Given the description of an element on the screen output the (x, y) to click on. 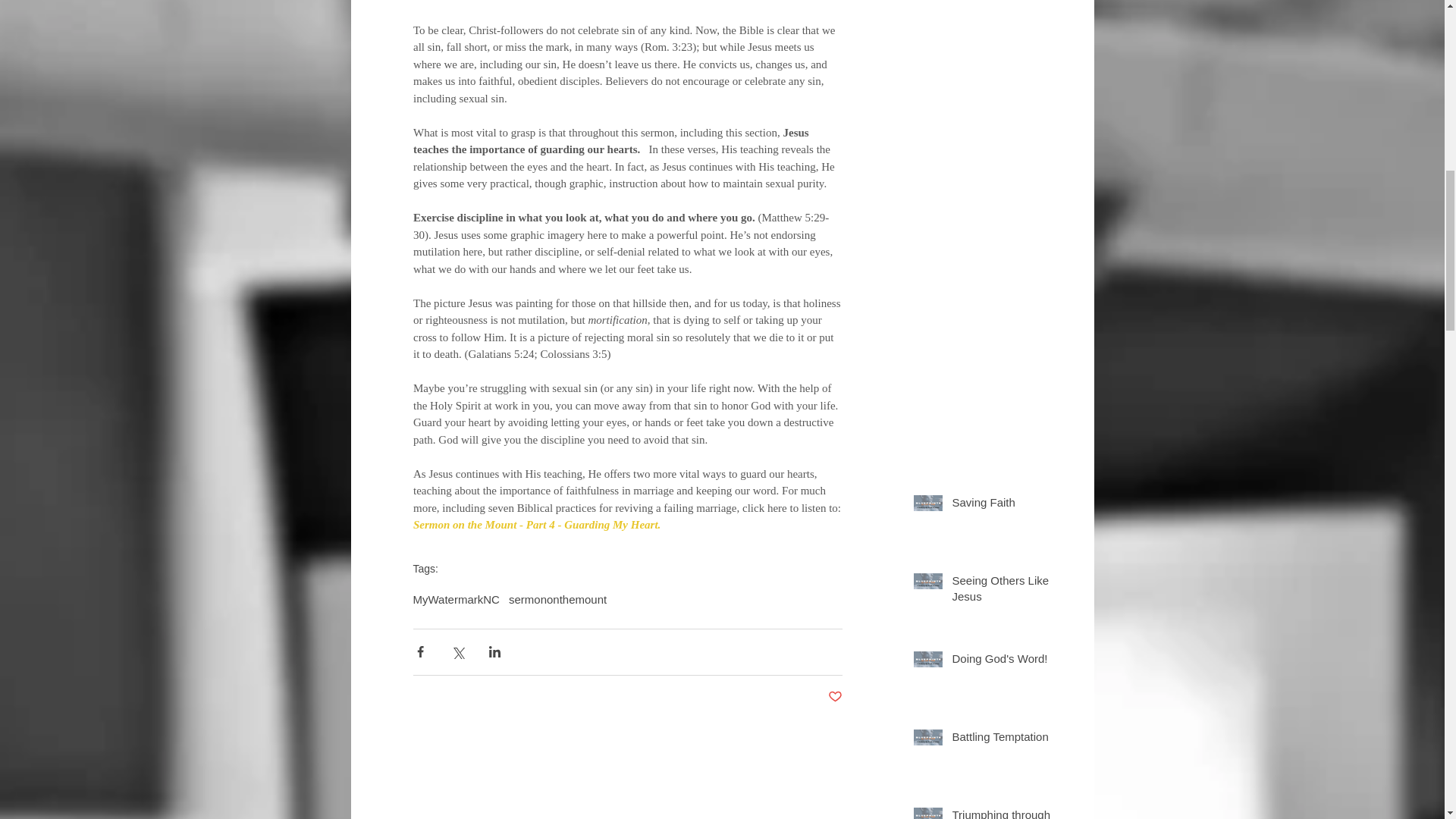
MyWatermarkNC (455, 599)
Saving Faith (1006, 505)
Battling Temptation (1006, 739)
Doing God's Word! (1006, 661)
Sermon on the Mount - Part 4 - Guarding My Heart.  (537, 524)
Triumphing through Trials (1006, 812)
Post not marked as liked (835, 696)
sermononthemount (557, 599)
Seeing Others Like Jesus (1006, 590)
